Given the description of an element on the screen output the (x, y) to click on. 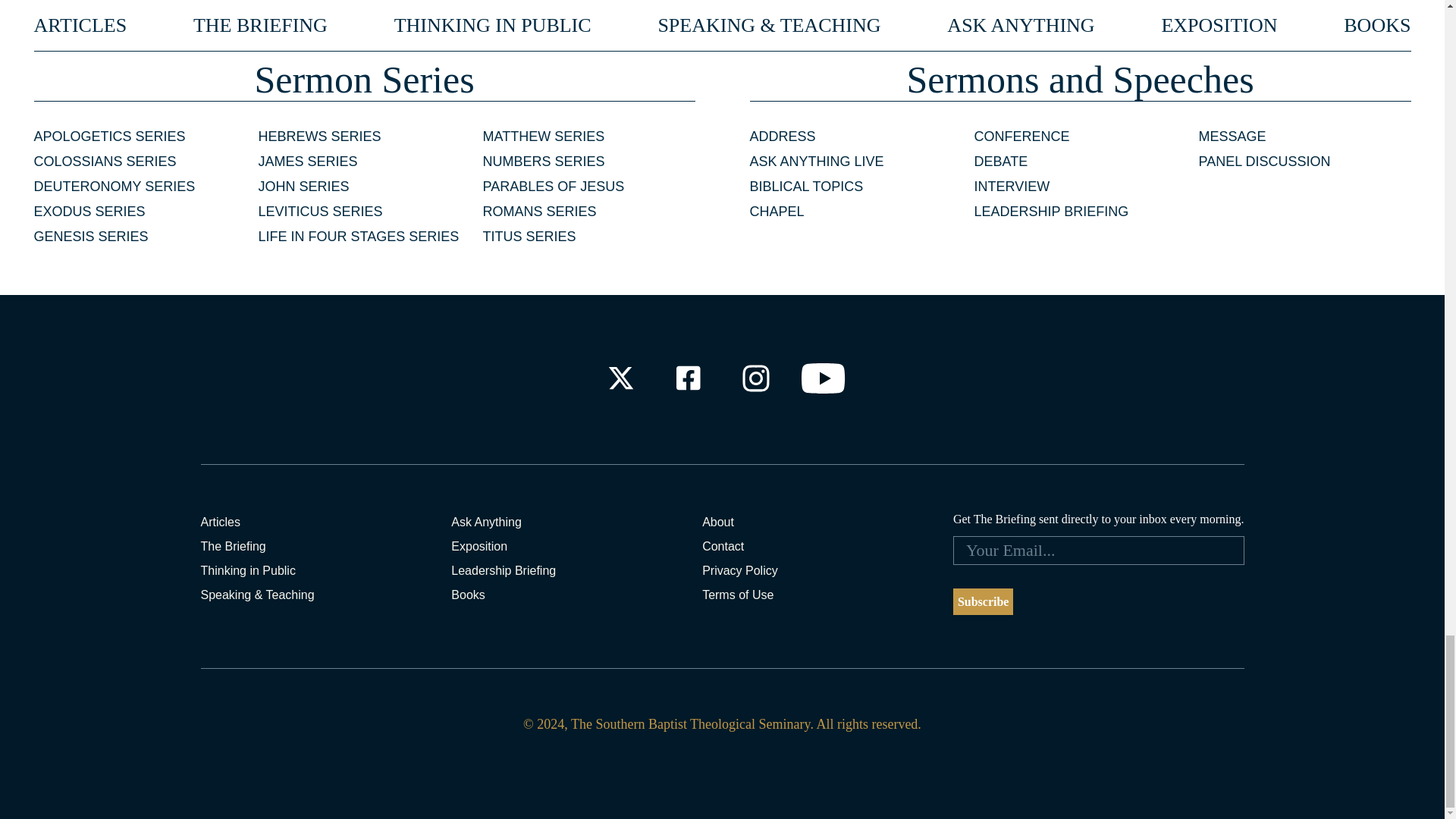
Check out our Instagram Profile (755, 377)
Check out our Facebook Profile (687, 377)
Subscribe (983, 601)
Check out our X Profile (620, 377)
Check out our Youtube Channel (822, 377)
